Given the description of an element on the screen output the (x, y) to click on. 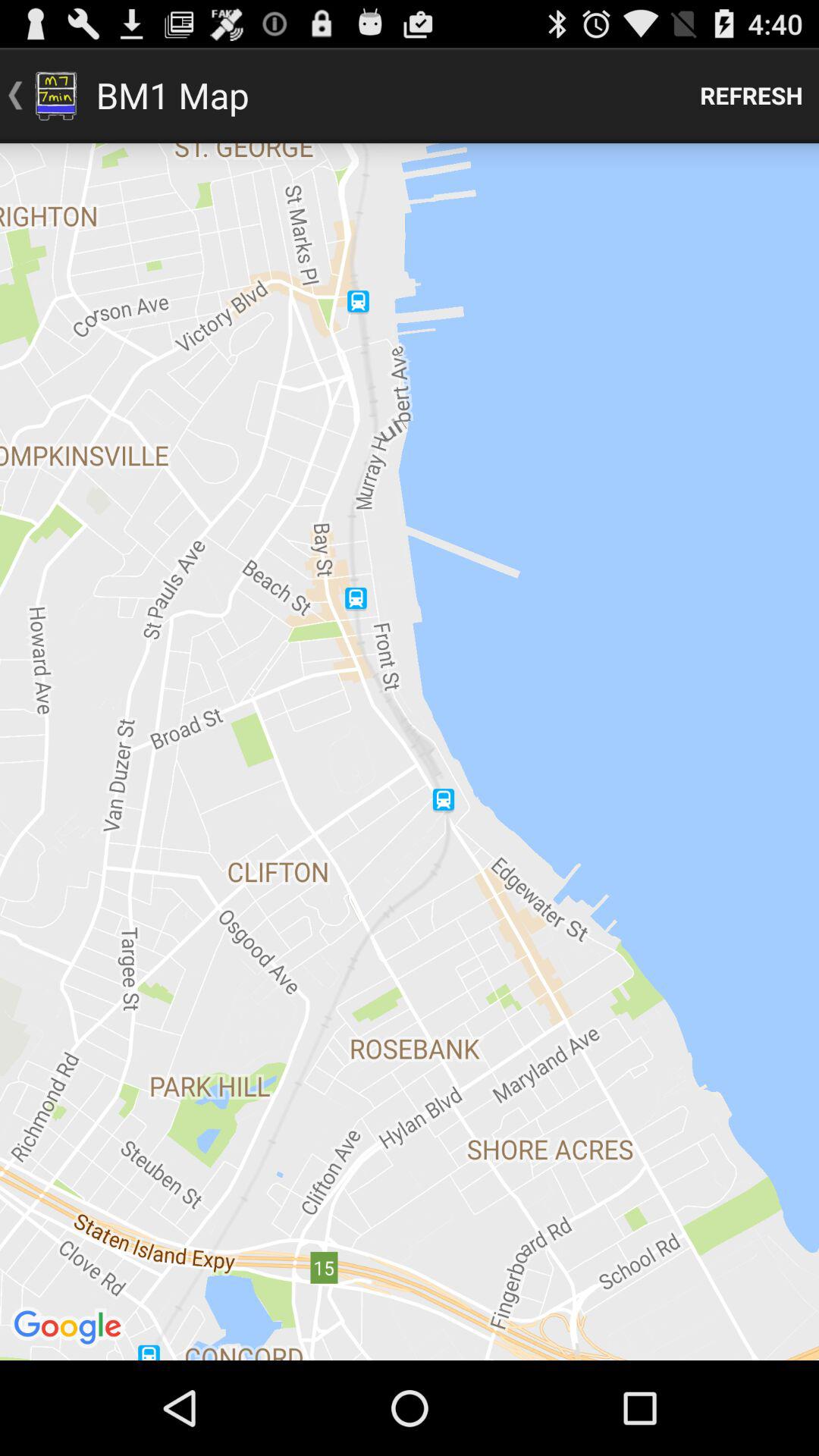
open item at the top right corner (751, 95)
